Given the description of an element on the screen output the (x, y) to click on. 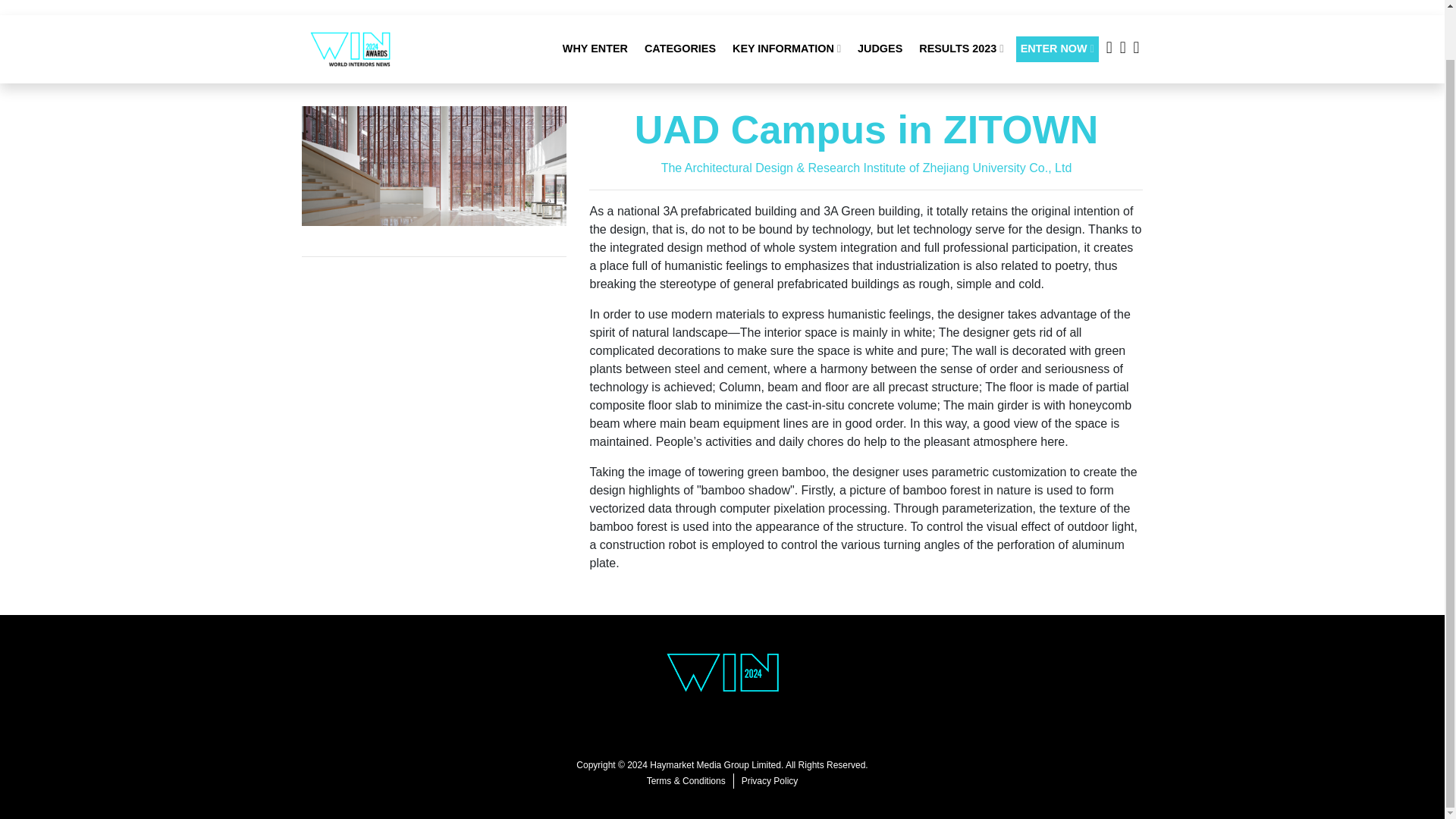
JUDGES (880, 4)
ENTER NOW (1057, 4)
KEY INFORMATION (786, 4)
RESULTS 2023 (960, 4)
CATEGORIES (680, 4)
KEY INFORMATION (786, 4)
ENTER NOW (1057, 4)
Privacy Policy (769, 780)
WHY ENTER (594, 4)
RESULTS 2023 (960, 4)
CATEGORIES (680, 4)
WHY ENTER (594, 4)
JUDGES (880, 4)
